Given the description of an element on the screen output the (x, y) to click on. 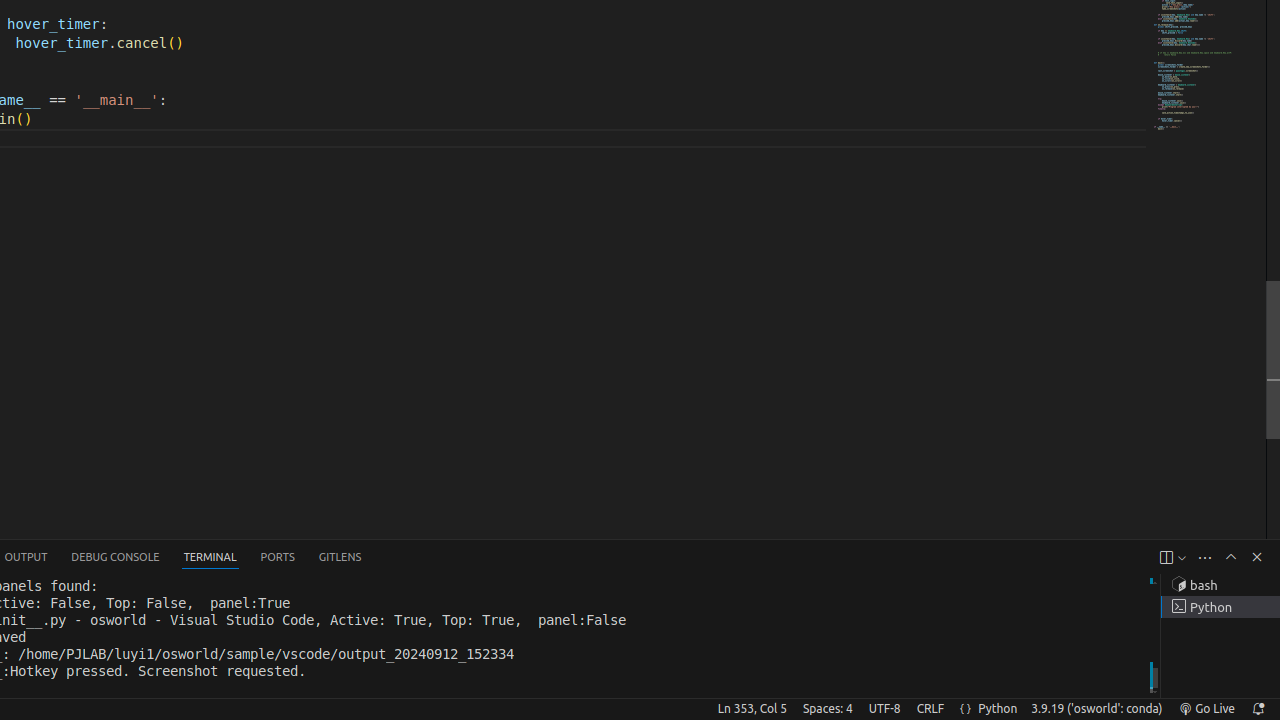
GitLens Element type: page-tab (340, 557)
Python Element type: push-button (998, 709)
CRLF Element type: push-button (930, 709)
broadcast Go Live, Click to run live server Element type: push-button (1206, 709)
Launch Profile... Element type: push-button (1182, 557)
